Given the description of an element on the screen output the (x, y) to click on. 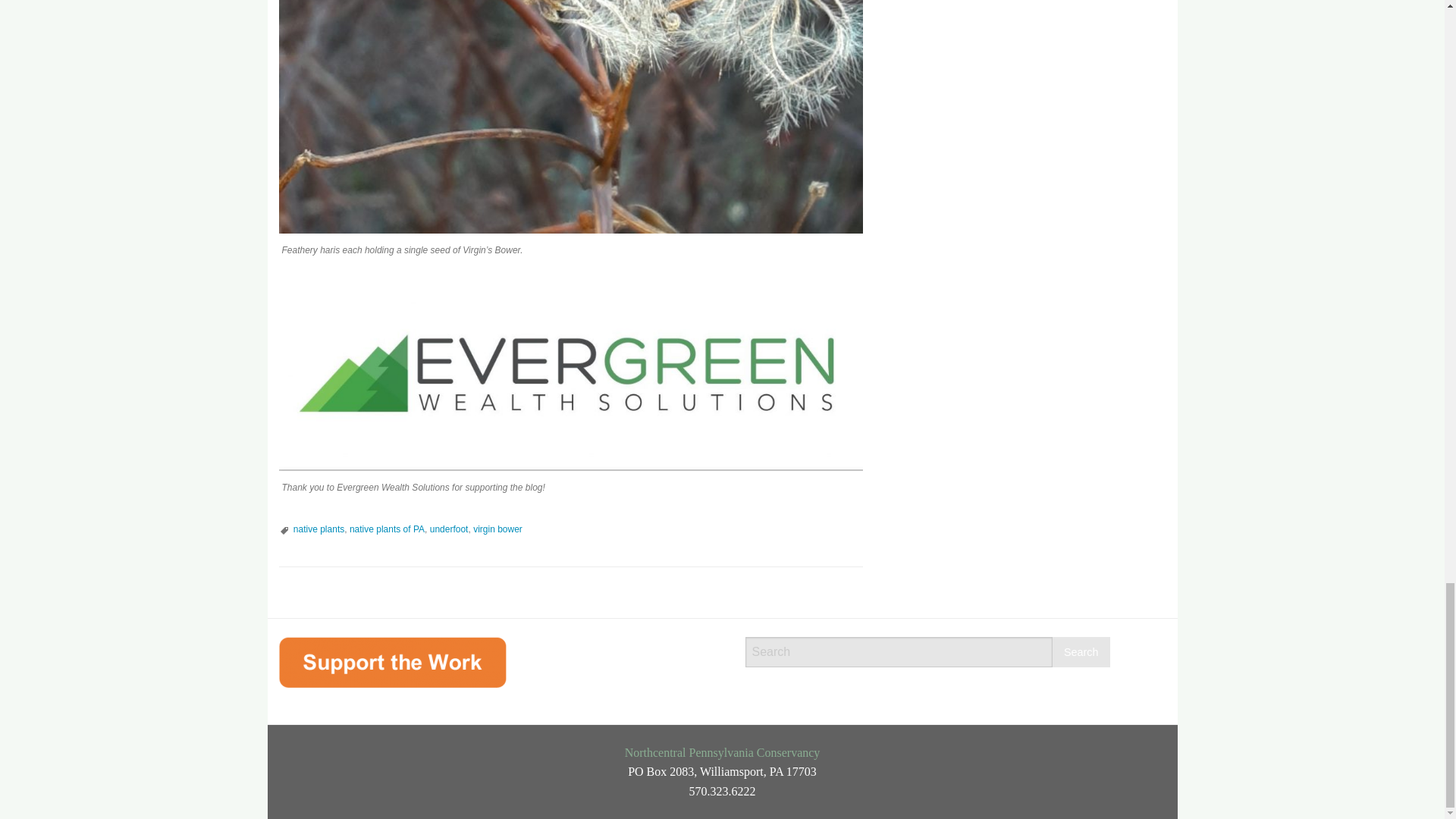
Search (1080, 652)
